Given the description of an element on the screen output the (x, y) to click on. 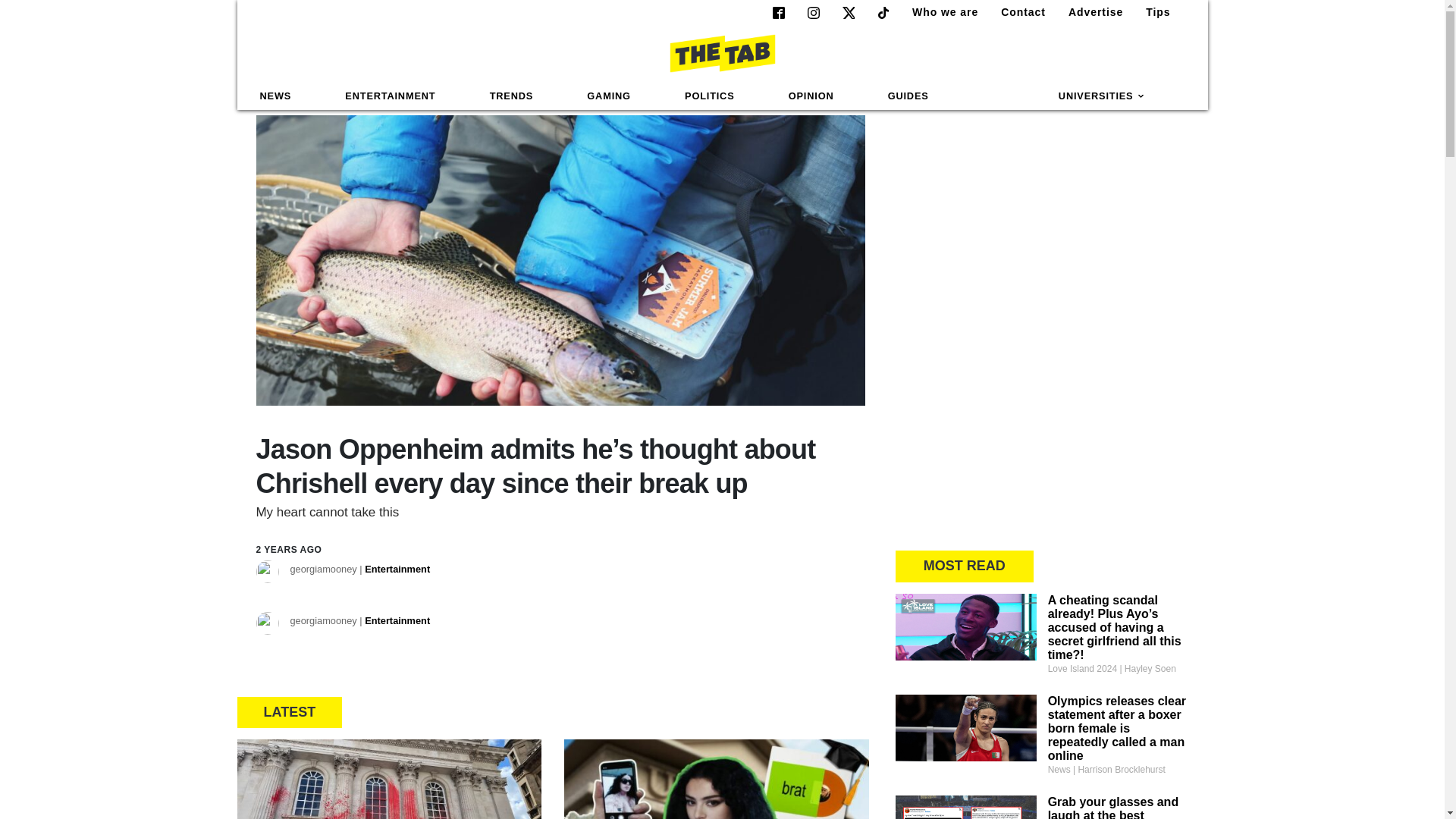
Contact (1016, 11)
Tips (1152, 11)
Advertise (1089, 11)
Posts by georgiamooney (359, 621)
TRENDS (511, 96)
Who we are (938, 11)
NEWS (275, 96)
POLITICS (708, 96)
GAMING (608, 96)
Posts by georgiamooney (359, 569)
